Given the description of an element on the screen output the (x, y) to click on. 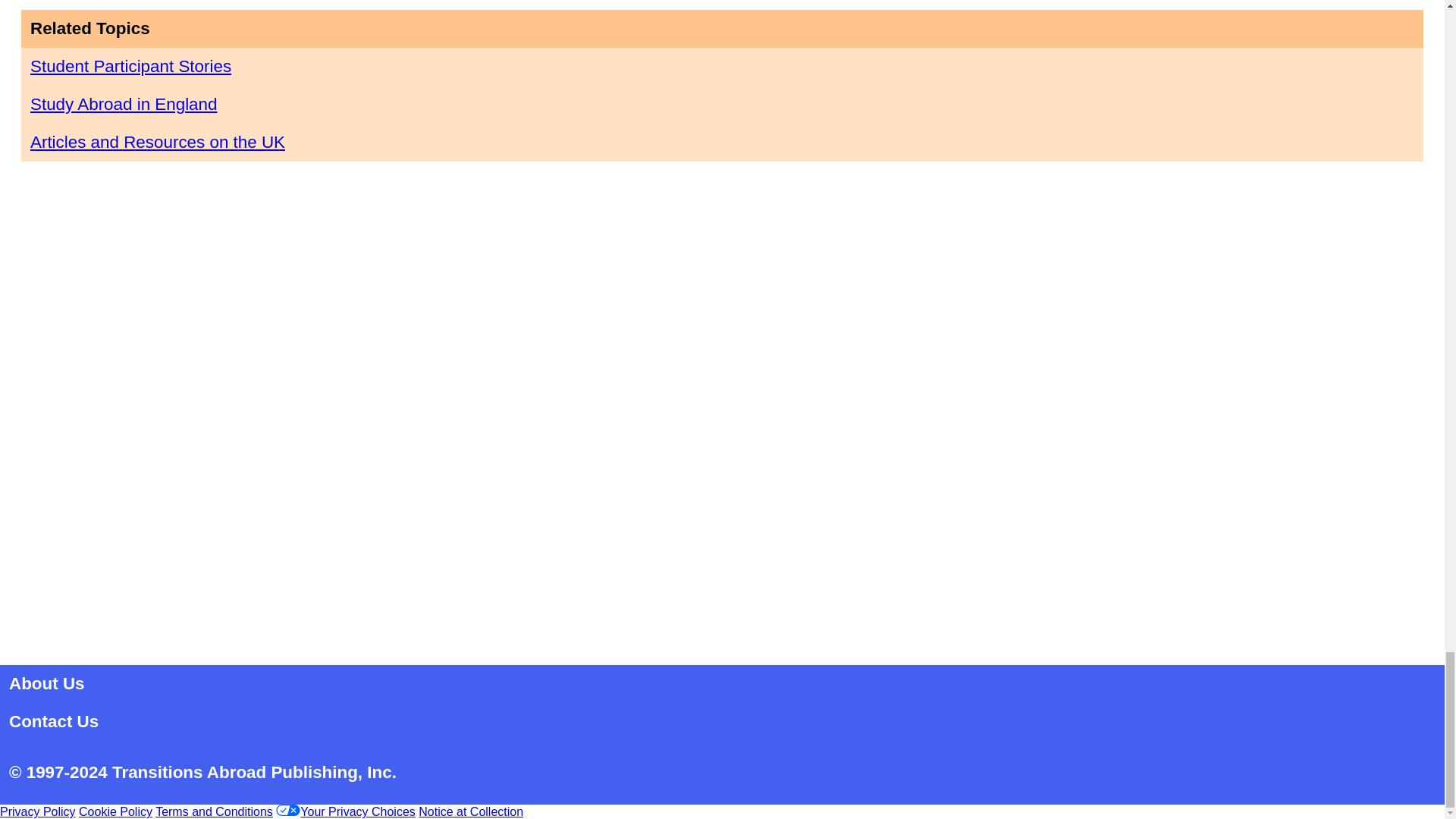
Privacy Policy  (37, 811)
Privacy Policy (37, 811)
Articles and Resources on the UK (157, 141)
Student Participant Stories (130, 66)
Your Privacy Choices (345, 811)
Cookie Policy  (115, 811)
Cookie Policy (115, 811)
Notice at Collection (470, 811)
Terms and Conditions (214, 811)
About Us (46, 683)
